Given the description of an element on the screen output the (x, y) to click on. 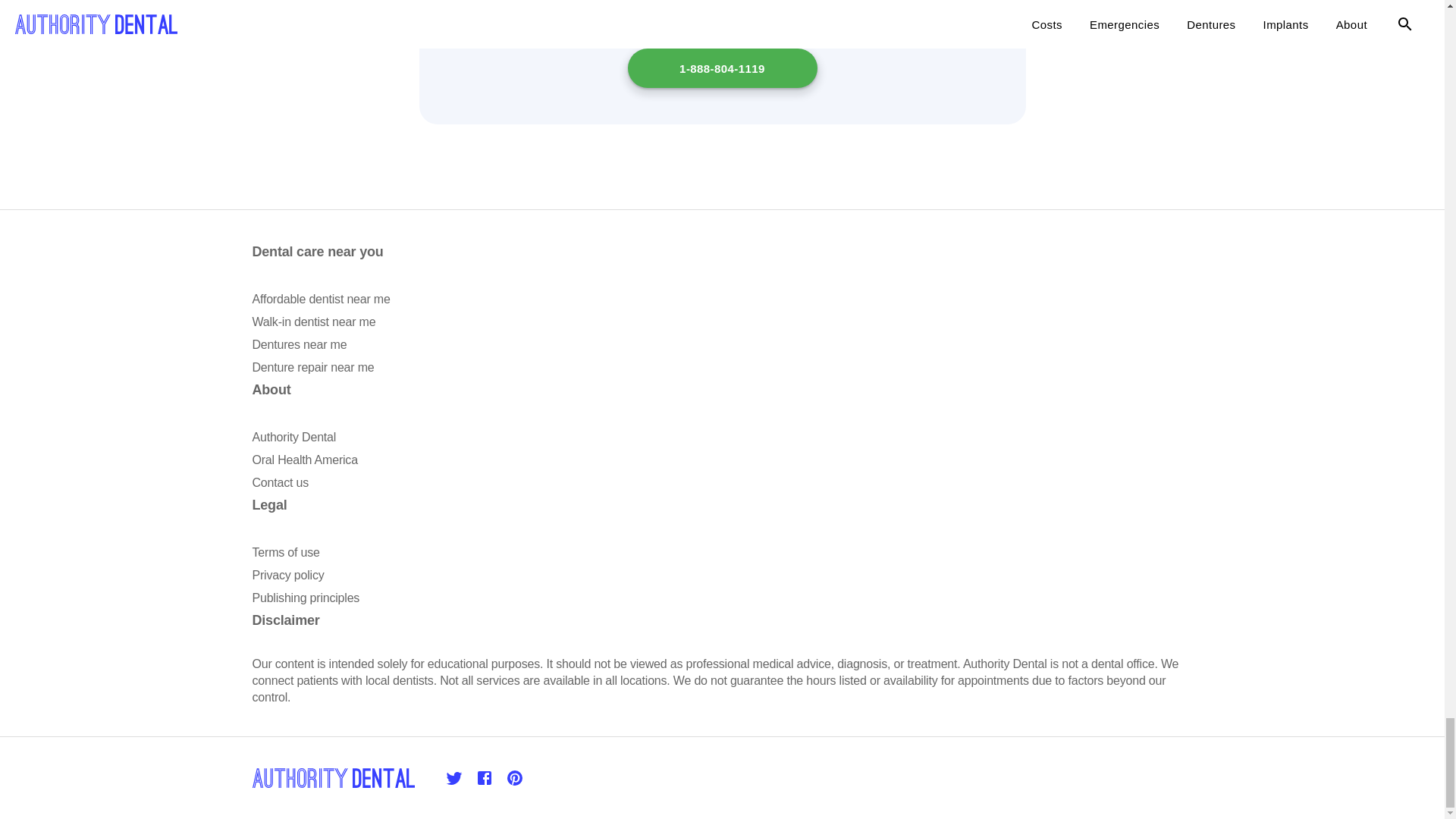
1-888-804-1119 (721, 67)
Affordable dentist near me (320, 298)
Publishing principles (305, 597)
Privacy policy (287, 574)
Dentures near me (298, 344)
Denture repair near me (312, 367)
Terms of use (284, 552)
Authority Dental (293, 436)
Contact us (279, 481)
Oral Health America (303, 459)
